Given the description of an element on the screen output the (x, y) to click on. 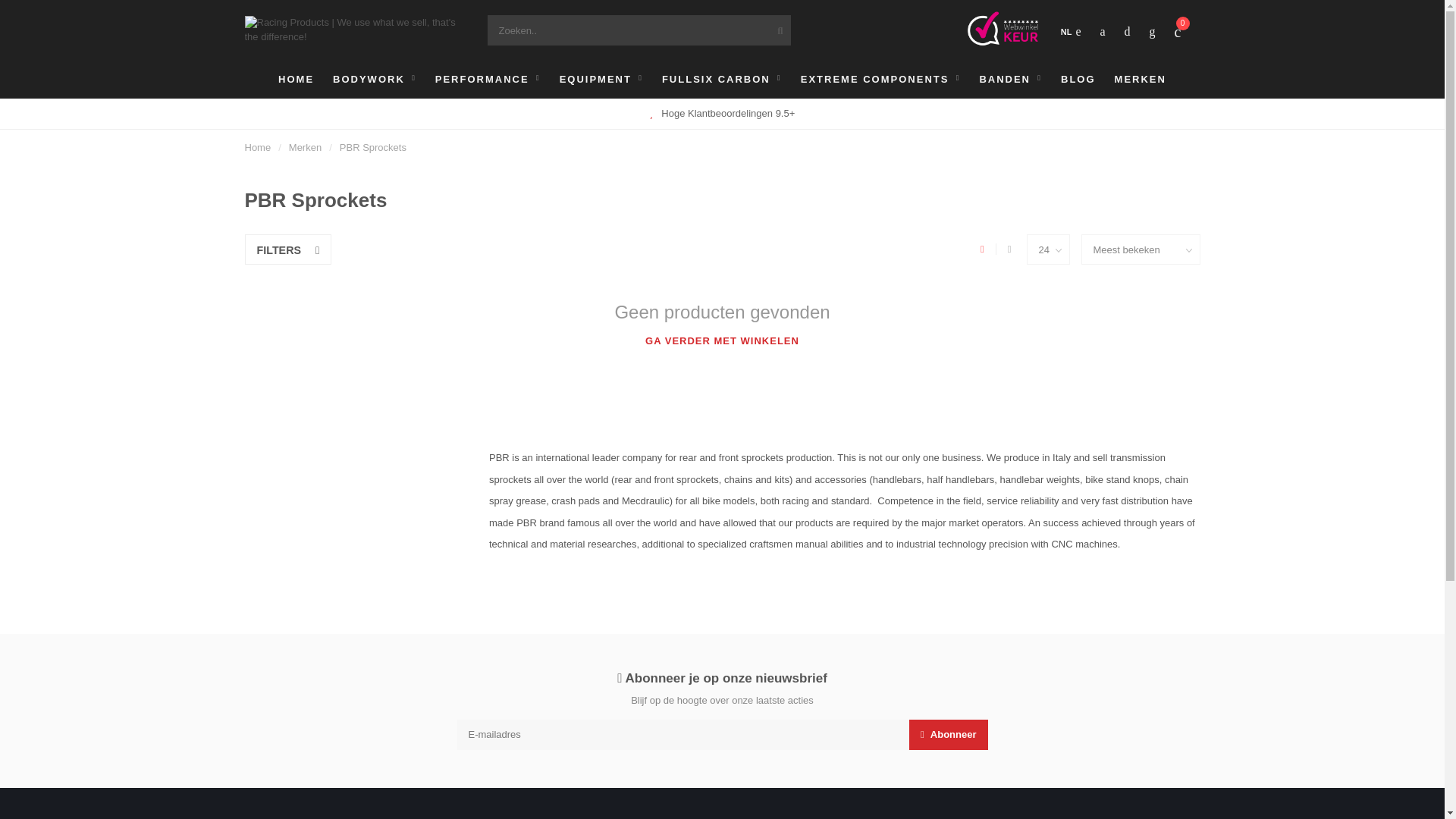
BODYWORK (374, 79)
NL (1071, 31)
HOME (296, 79)
Home (257, 147)
